Given the description of an element on the screen output the (x, y) to click on. 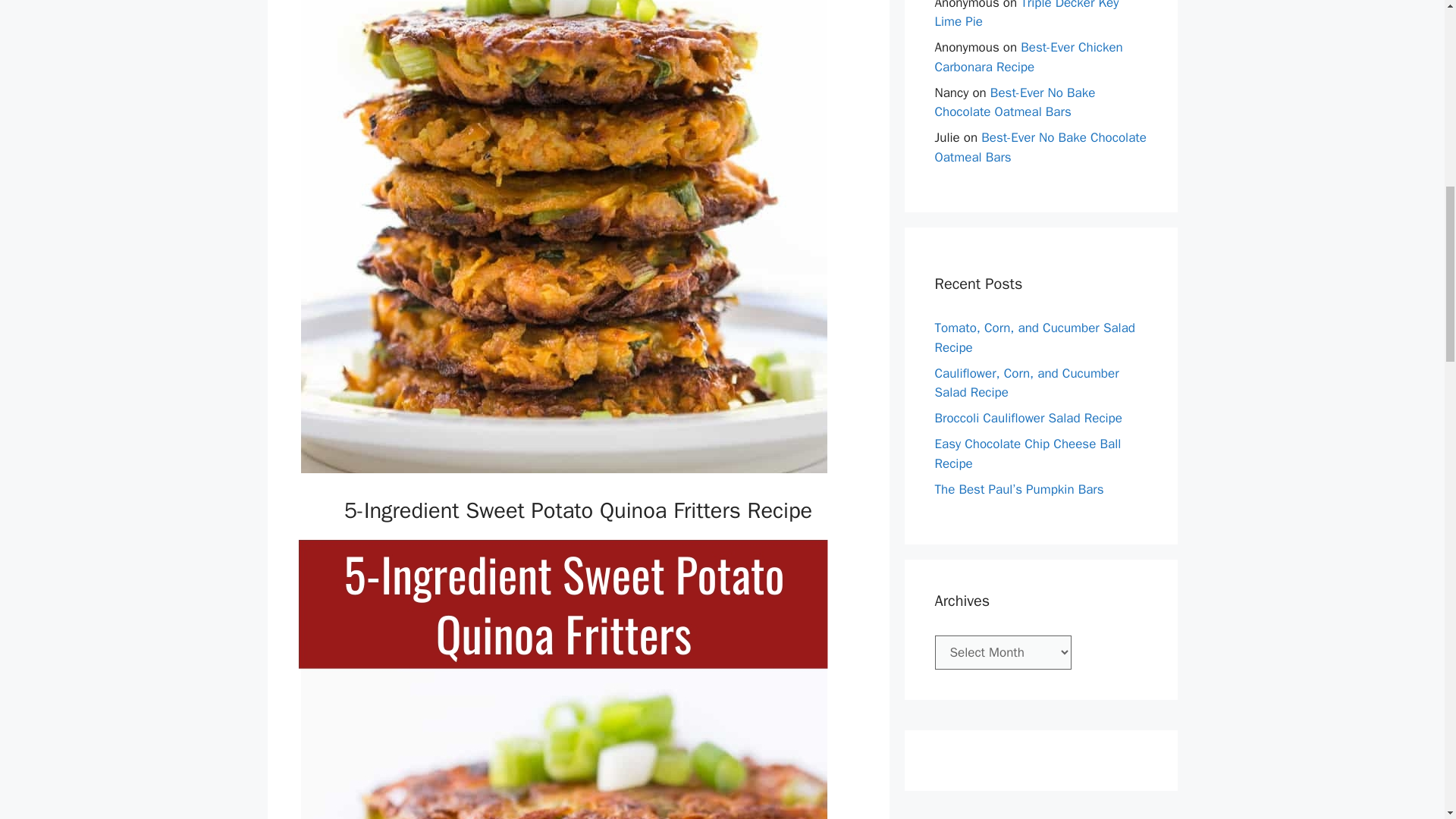
Cauliflower, Corn, and Cucumber Salad Recipe (1026, 383)
Best-Ever No Bake Chocolate Oatmeal Bars (1039, 147)
Tomato, Corn, and Cucumber Salad Recipe (1034, 337)
Best-Ever Chicken Carbonara Recipe (1028, 57)
Best-Ever No Bake Chocolate Oatmeal Bars (1014, 102)
Triple Decker Key Lime Pie (1026, 14)
